Given the description of an element on the screen output the (x, y) to click on. 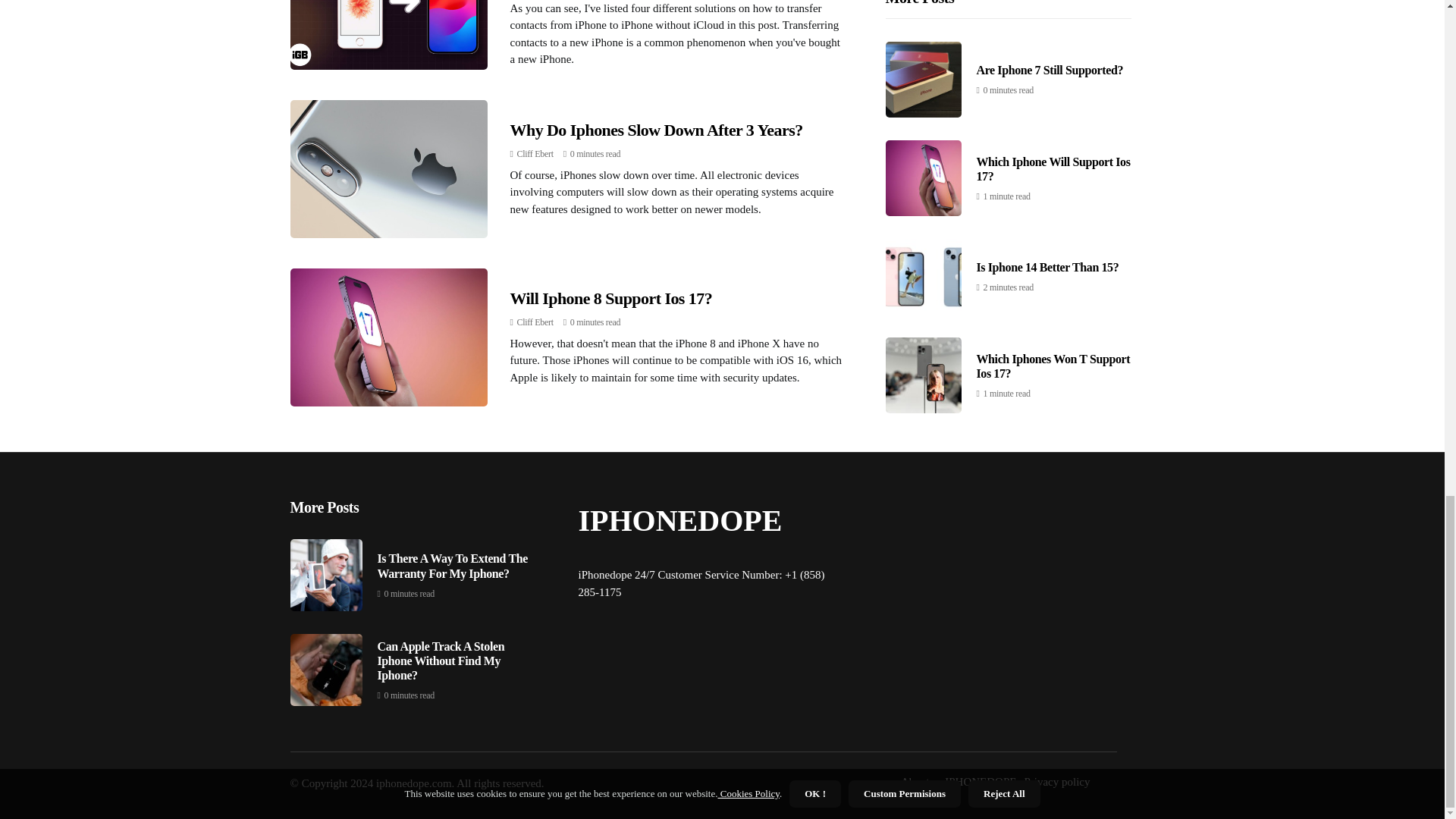
Cliff Ebert (534, 321)
Why Do Iphones Slow Down After 3 Years? (655, 129)
Posts by Cliff Ebert (534, 321)
Posts by Cliff Ebert (534, 153)
Cliff Ebert (534, 153)
Will Iphone 8 Support Ios 17? (610, 298)
